Given the description of an element on the screen output the (x, y) to click on. 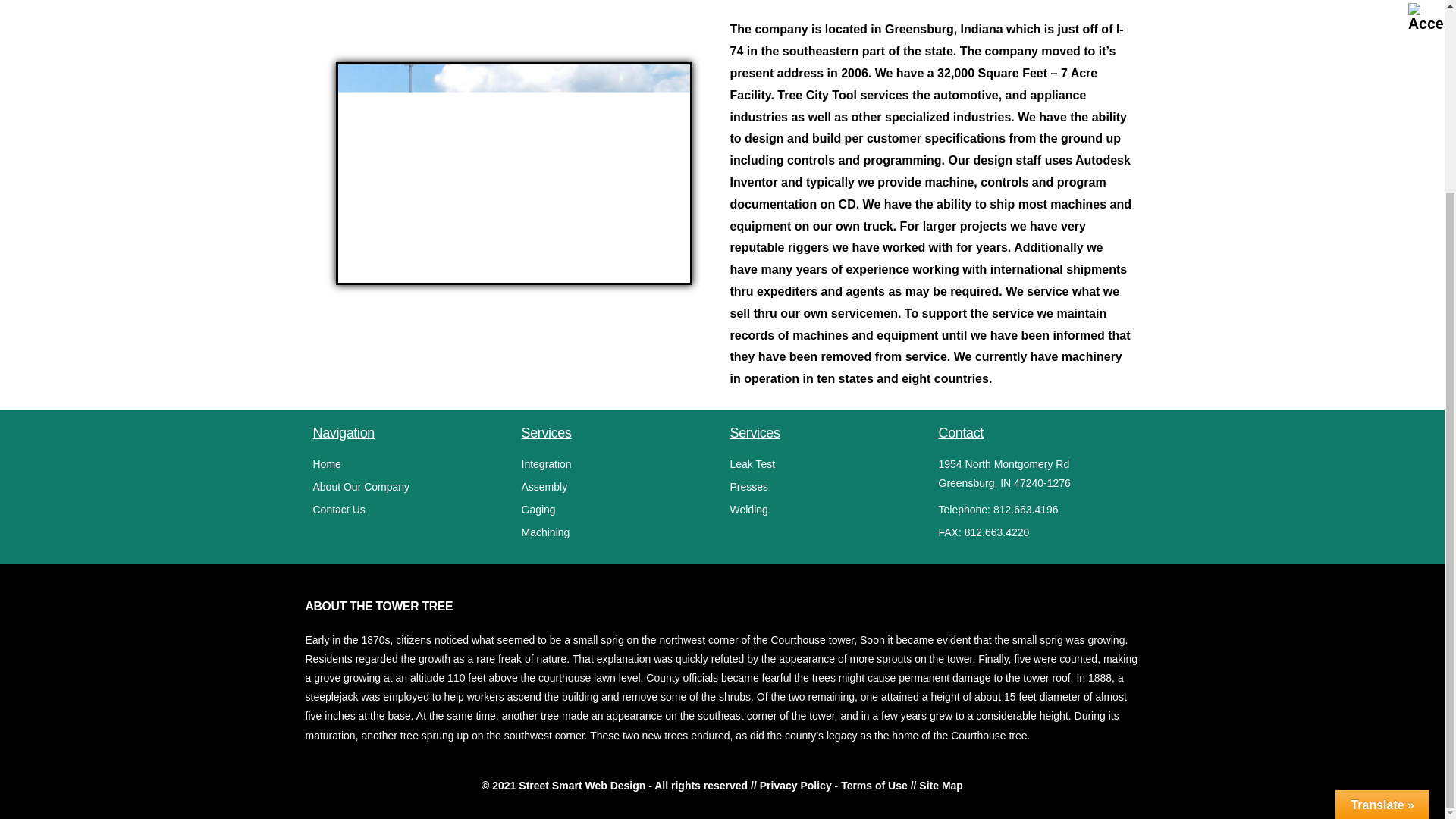
Assembly (617, 486)
Presses (826, 486)
About Our Company (409, 486)
Home (409, 464)
Machining (617, 532)
Integration (617, 464)
Gaging (617, 509)
Welding (826, 509)
Contact Us (409, 509)
Street Smart Web Design (581, 785)
Leak Test (826, 464)
Privacy Policy - Terms of Use (833, 785)
